Given the description of an element on the screen output the (x, y) to click on. 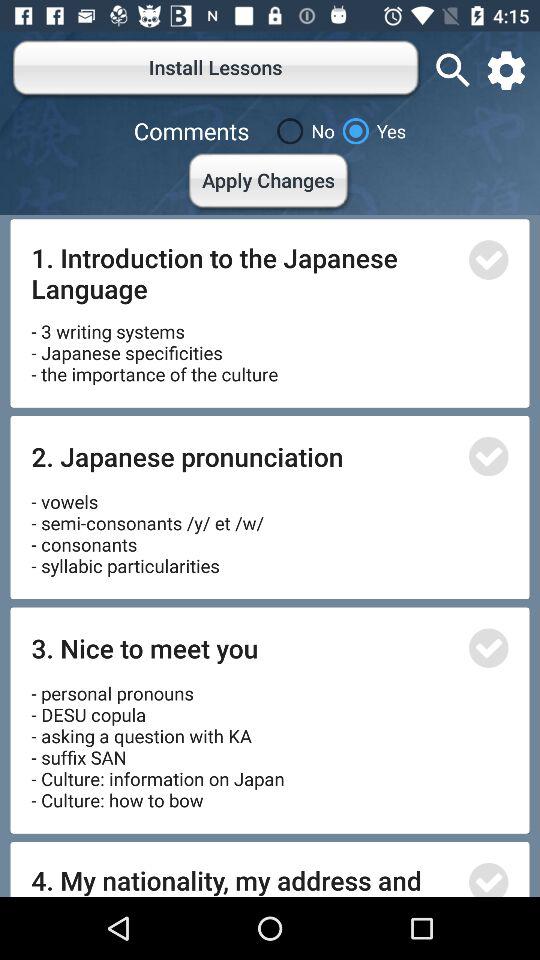
choose the icon below the apply changes (243, 272)
